Given the description of an element on the screen output the (x, y) to click on. 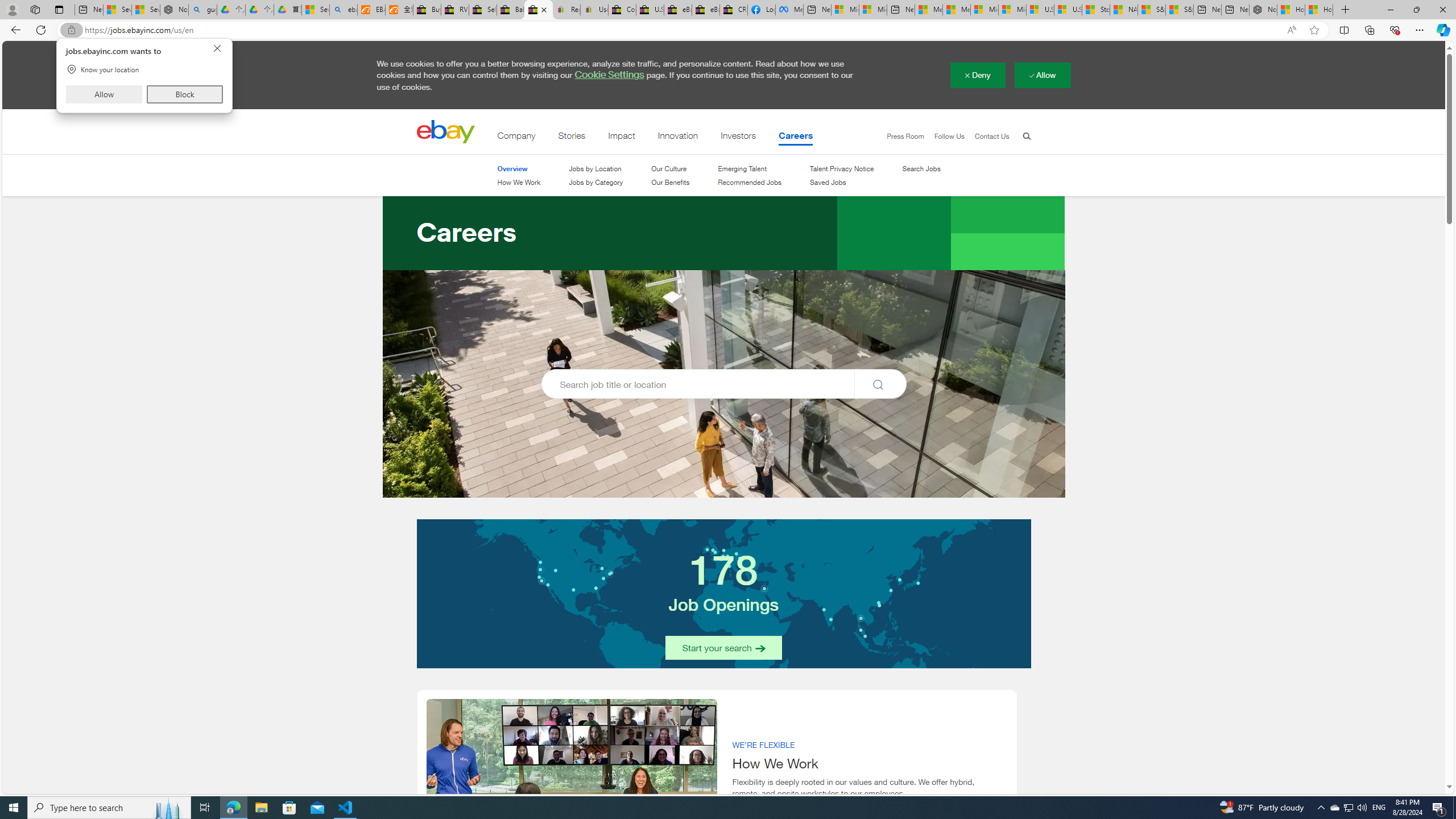
Log into Facebook (761, 9)
Microsoft Store (289, 807)
Cookie Settings (610, 75)
eBay Inc. Reports Third Quarter 2023 Results (706, 9)
U.S. State Privacy Disclosures - eBay Inc. (1347, 807)
File Explorer (649, 9)
Microsoft Edge - 1 running window (261, 807)
User Privacy Notice | eBay (233, 807)
Recommended Jobs (593, 9)
Jobs by Location (749, 182)
Home (595, 168)
